Given the description of an element on the screen output the (x, y) to click on. 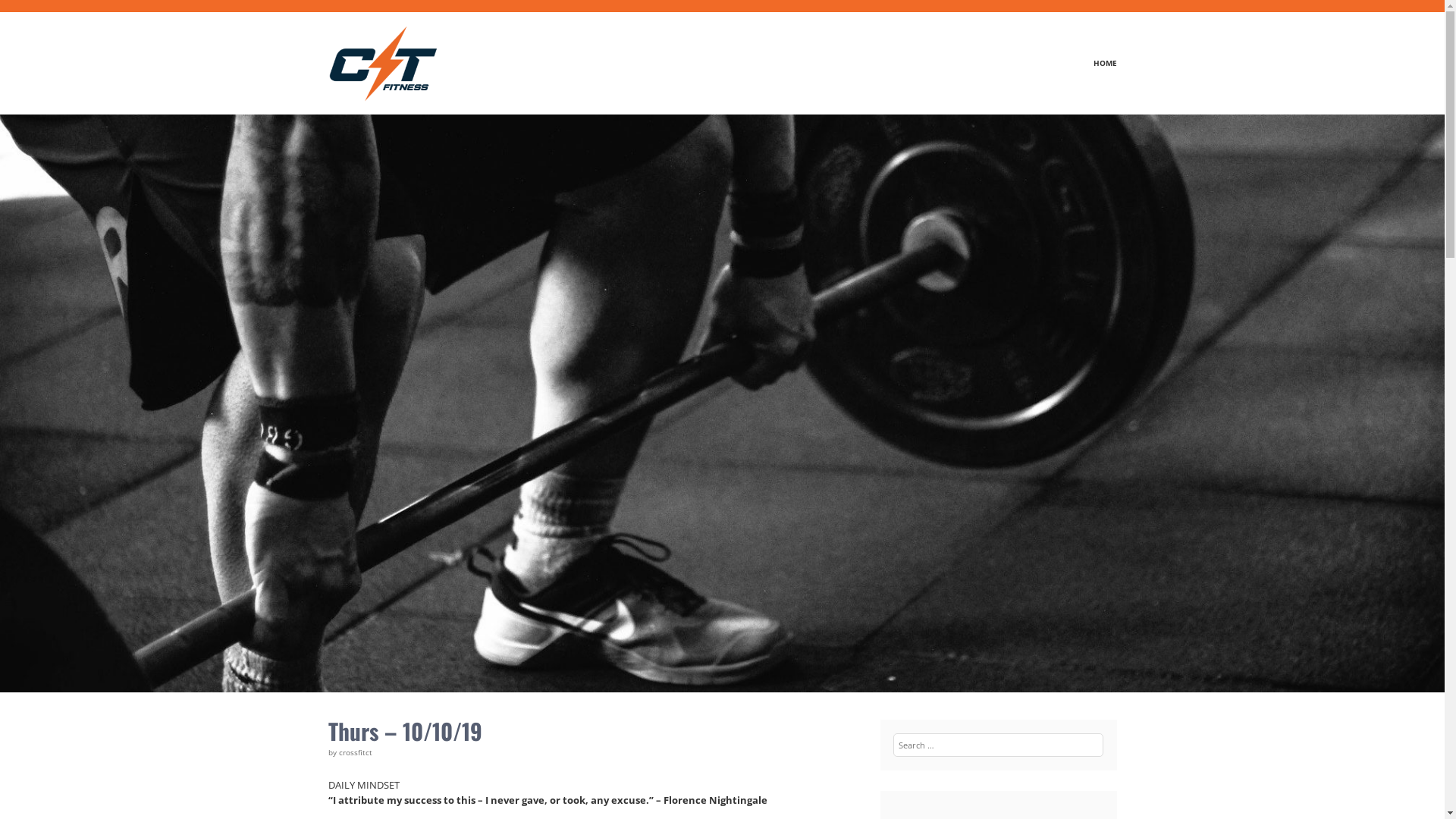
HOME Element type: text (1096, 63)
Search Element type: text (33, 12)
crossfitct Element type: text (354, 752)
